Given the description of an element on the screen output the (x, y) to click on. 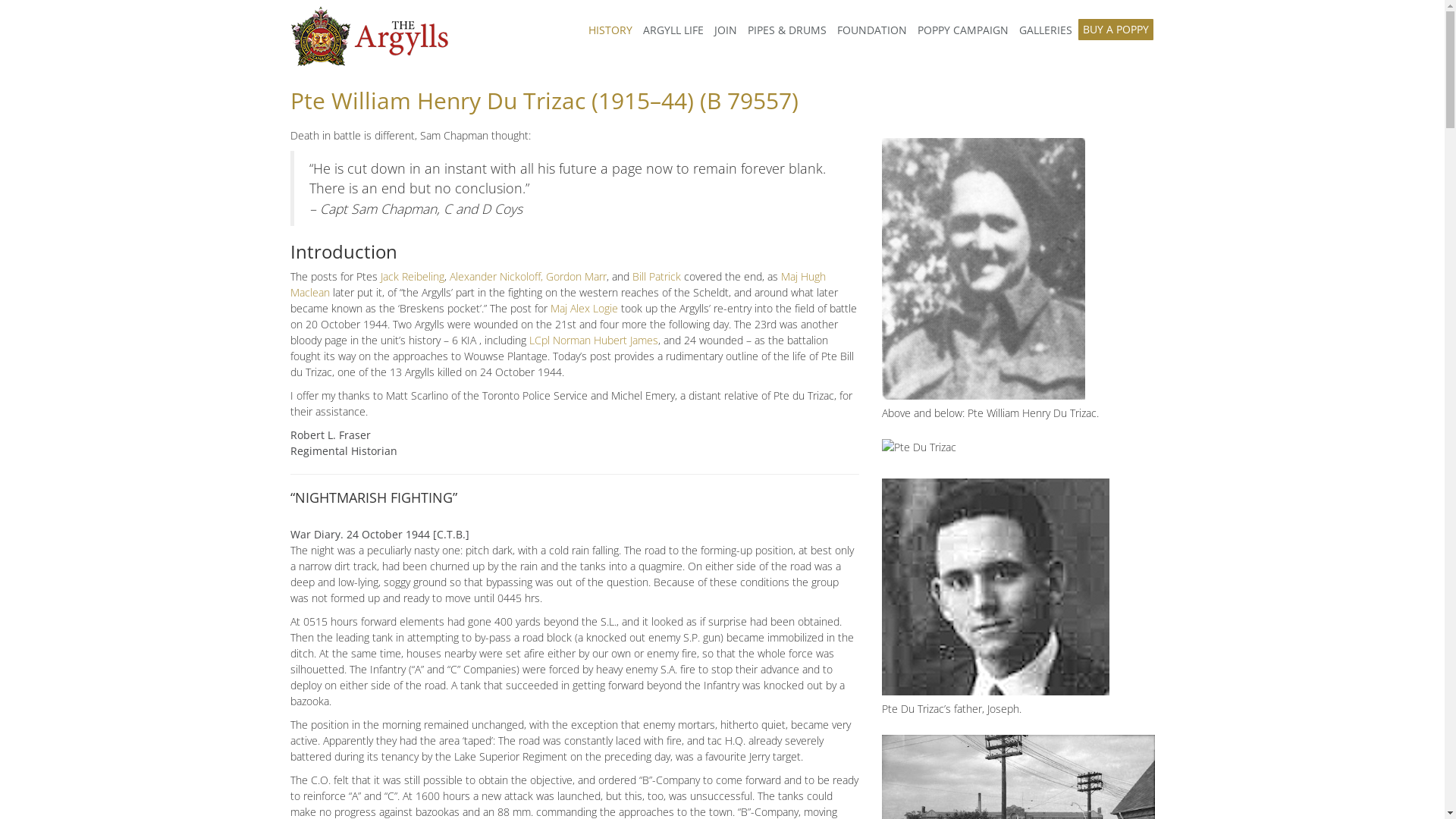
PIPES & DRUMS Element type: text (786, 30)
POPPY CAMPAIGN Element type: text (962, 30)
ARGYLL LIFE Element type: text (672, 30)
Maj Hugh Maclean Element type: text (557, 284)
GALLERIES Element type: text (1044, 30)
Alexander Nickoloff, Gordon Marr Element type: text (526, 276)
Maj Alex Logie Element type: text (584, 308)
Jack Reibeling Element type: text (412, 276)
HISTORY Element type: text (609, 30)
Bill Patrick Element type: text (656, 276)
FOUNDATION Element type: text (871, 30)
BUY A POPPY Element type: text (1115, 30)
BUY A POPPY Element type: text (1115, 29)
JOIN Element type: text (724, 30)
LCpl Norman Hubert James Element type: text (593, 339)
